Given the description of an element on the screen output the (x, y) to click on. 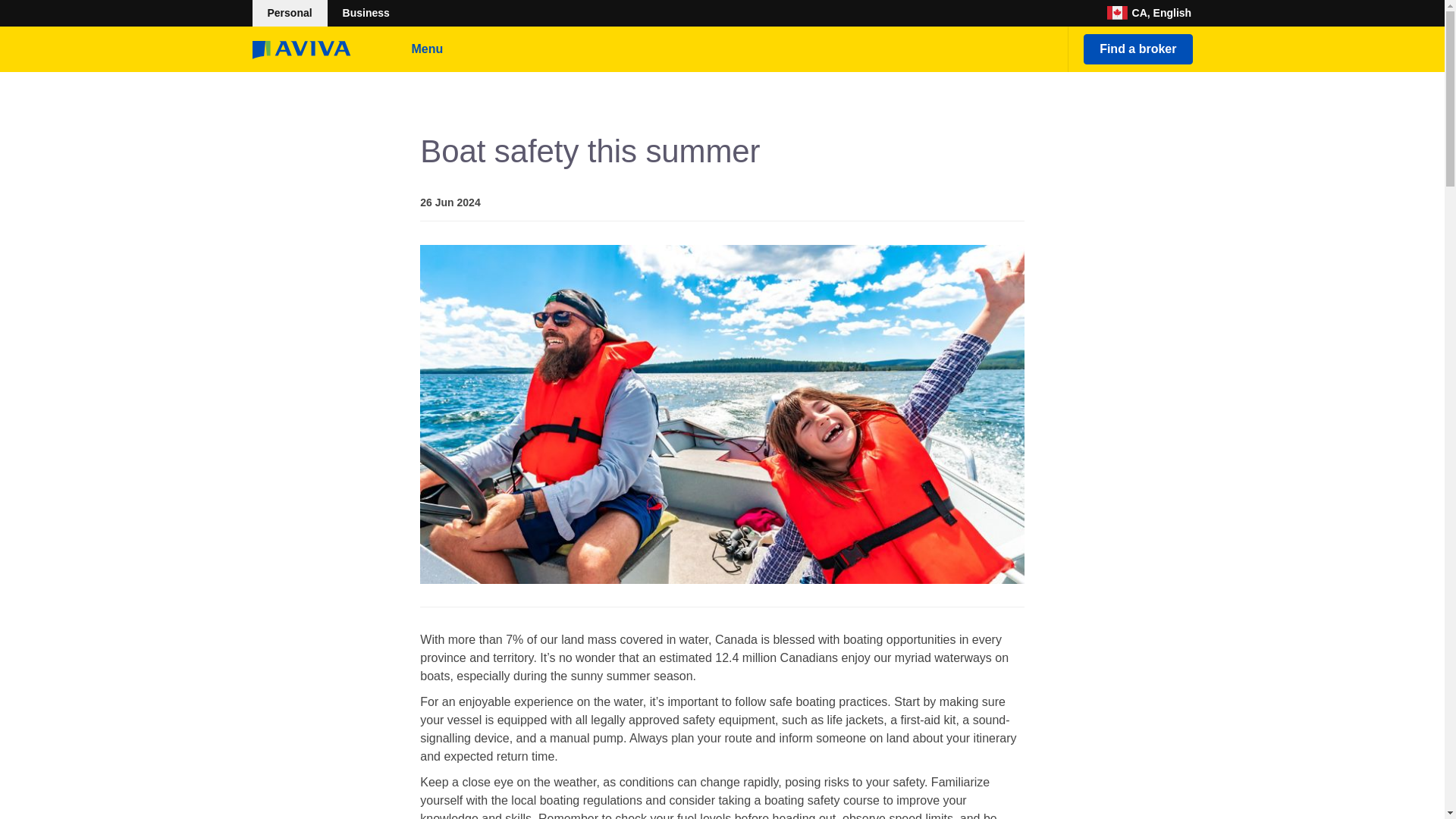
CA, English (1149, 13)
Business (365, 13)
Find a broker (1137, 49)
Personal (288, 13)
